Given the description of an element on the screen output the (x, y) to click on. 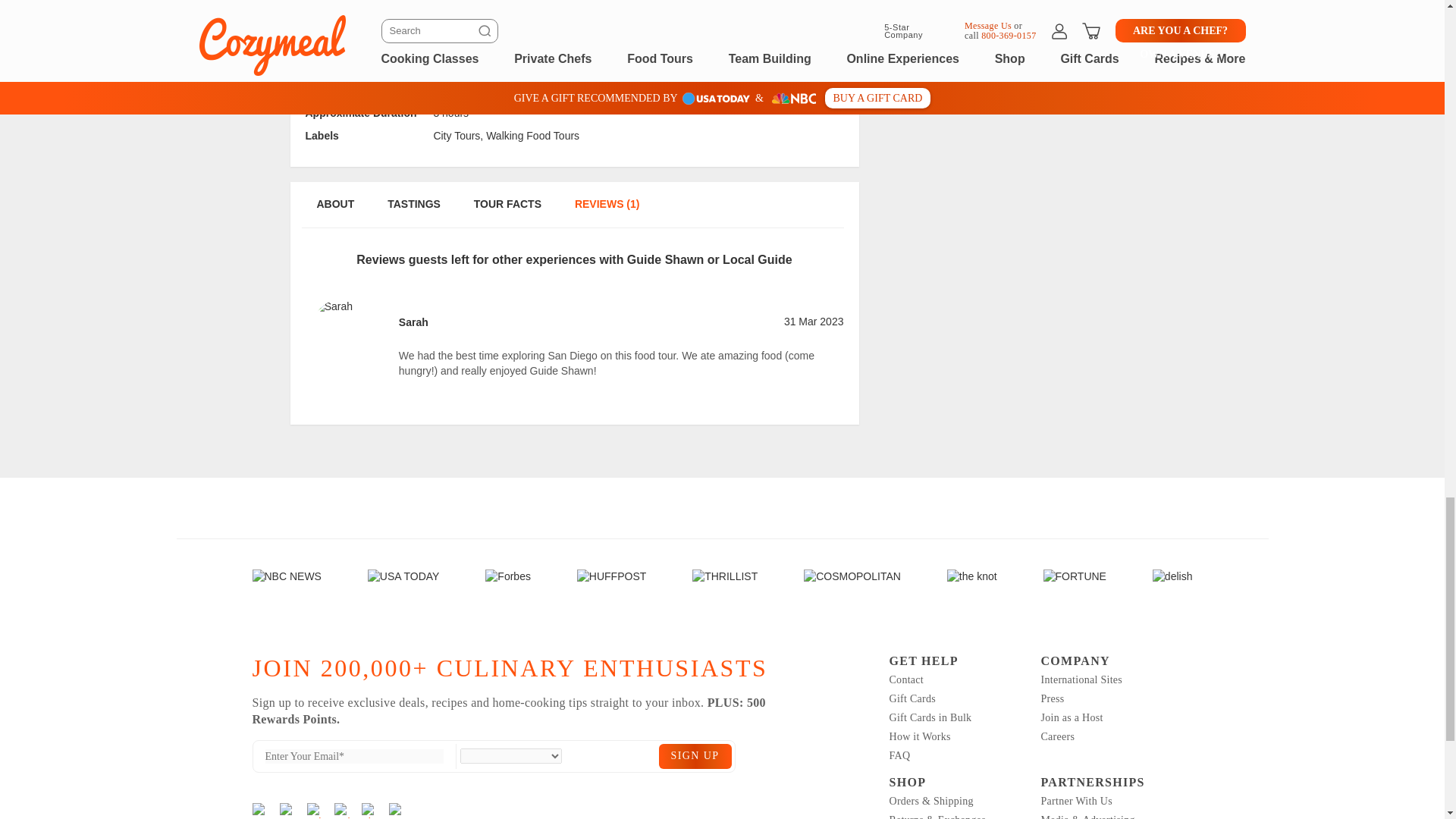
TASTINGS (413, 6)
ABOUT (334, 6)
Instagram (258, 809)
Yelp (313, 809)
Twitter (341, 809)
TASTINGS (413, 212)
YouTube (395, 809)
ABOUT (334, 212)
TOUR FACTS (508, 6)
Facebook (286, 809)
